Given the description of an element on the screen output the (x, y) to click on. 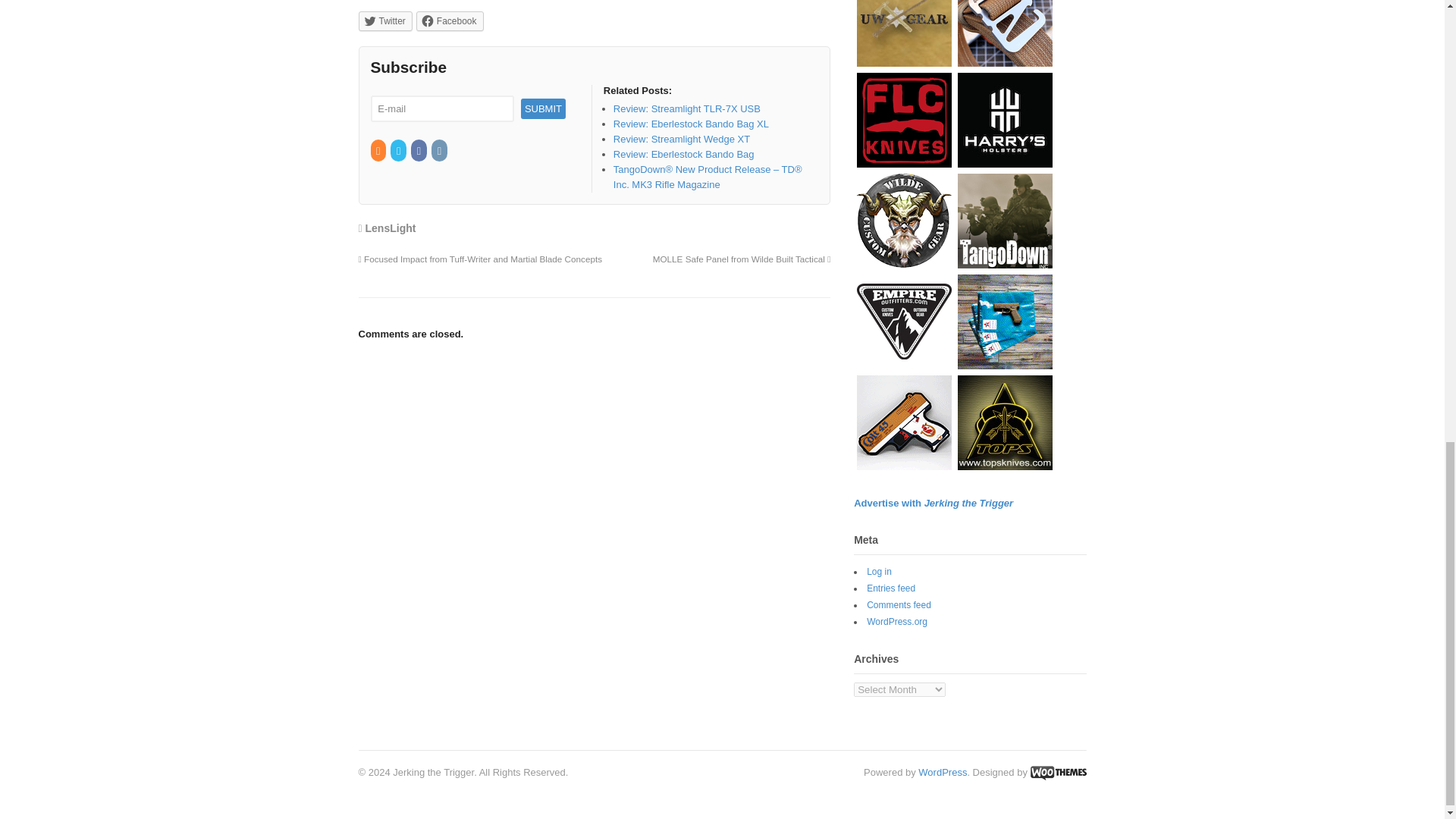
RSS (378, 151)
Submit (543, 108)
LensLight (390, 227)
MOLLE Safe Panel from Wilde Built Tactical (741, 258)
E-mail (441, 108)
Review: Streamlight TLR-7X USB (686, 108)
Instagram (439, 151)
Click to share on Twitter (385, 21)
Review: Eberlestock Bando Bag (683, 153)
Facebook (449, 21)
